Given the description of an element on the screen output the (x, y) to click on. 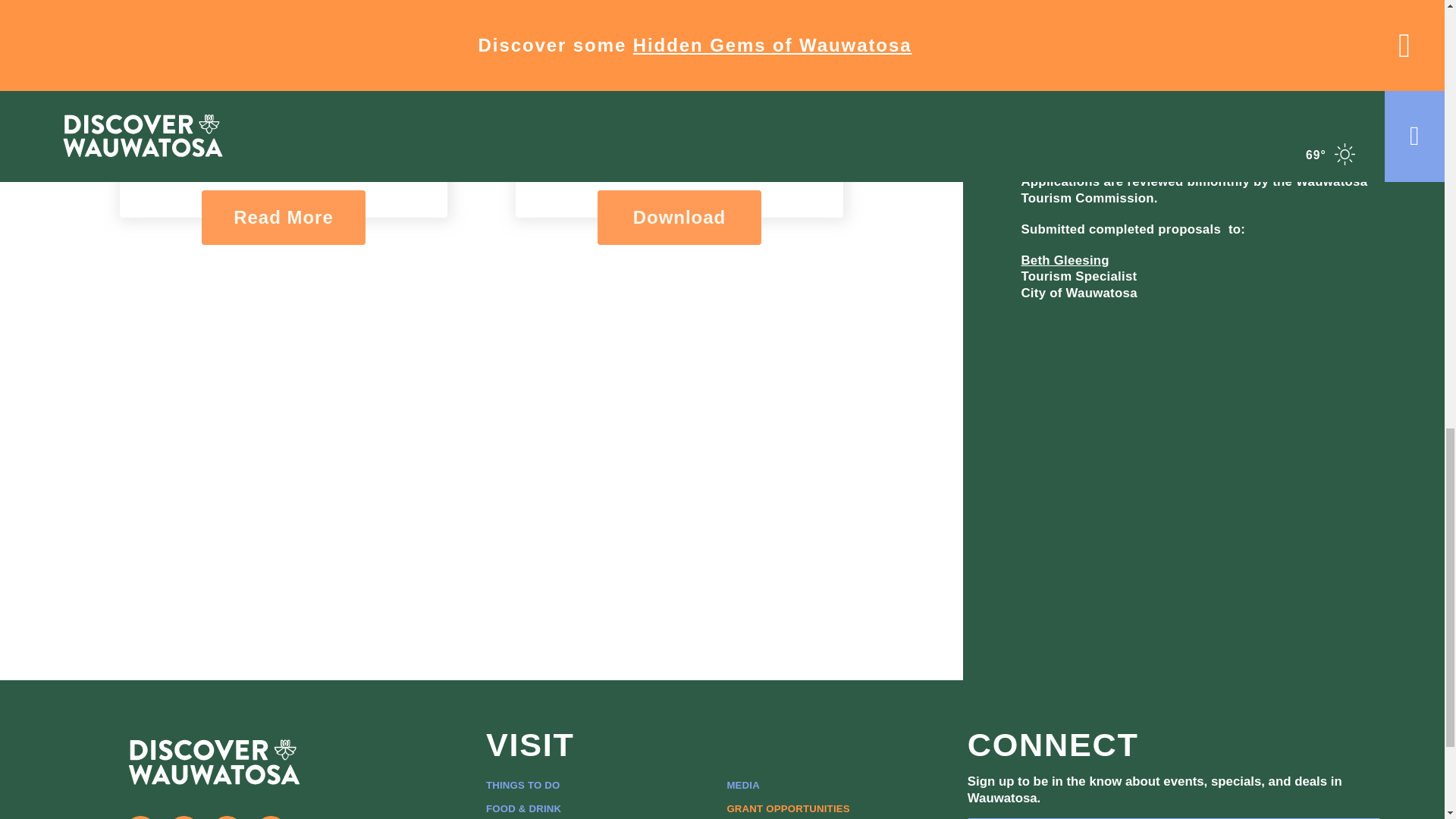
THINGS TO DO (523, 784)
